Given the description of an element on the screen output the (x, y) to click on. 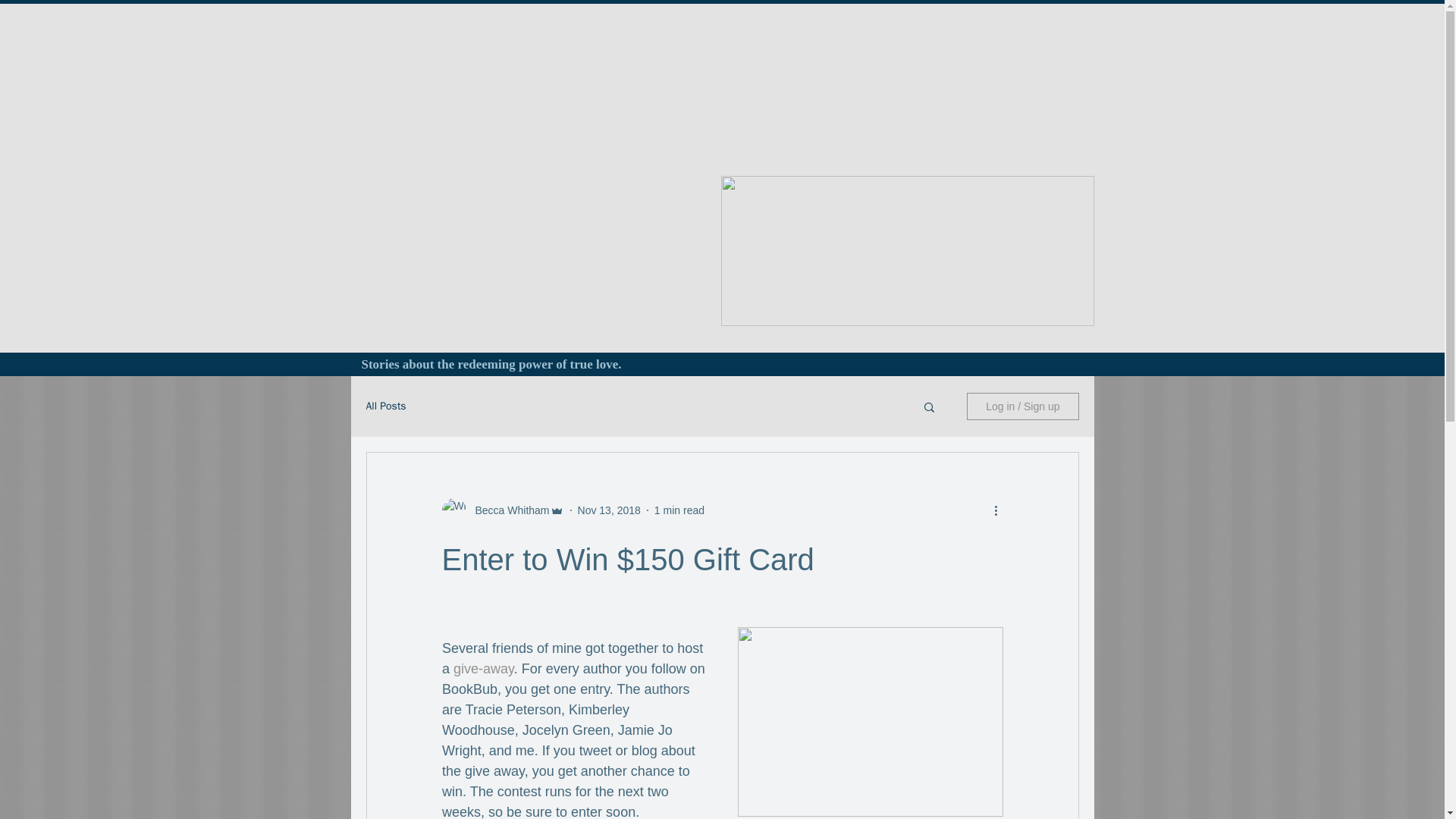
All Posts (385, 406)
Becca Whitham (506, 509)
Nov 13, 2018 (609, 509)
1 min read (678, 509)
give-away (482, 668)
